Given the description of an element on the screen output the (x, y) to click on. 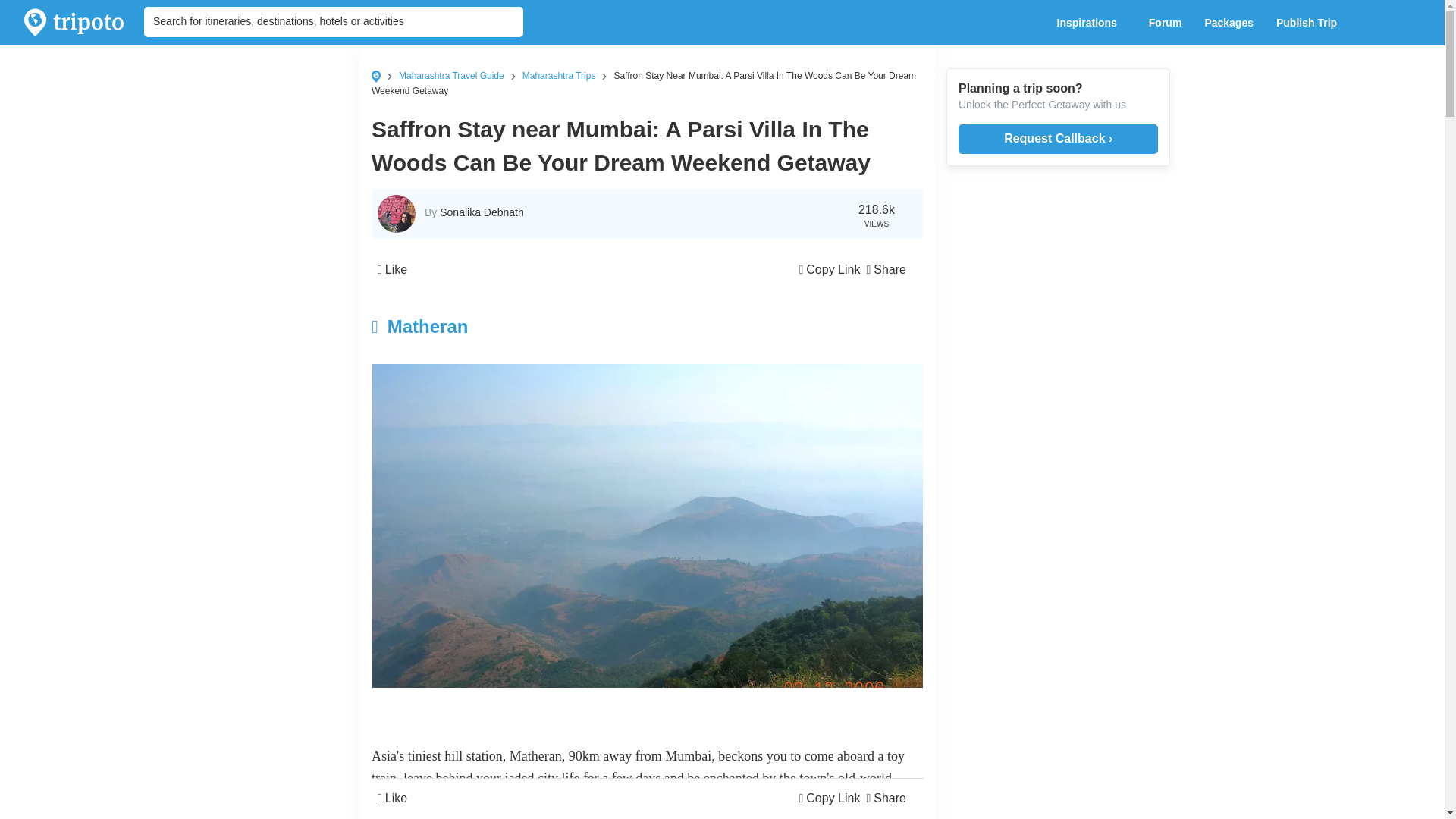
Tripoto: India's Largest Community of Travellers (73, 22)
Packages (1228, 22)
Maharashtra Trips (558, 75)
Packages (1228, 22)
Matheran (555, 326)
Publish Trip (1310, 22)
Maharashtra Travel Guide (450, 75)
Forum (1165, 22)
Inspirations (1091, 22)
